Given the description of an element on the screen output the (x, y) to click on. 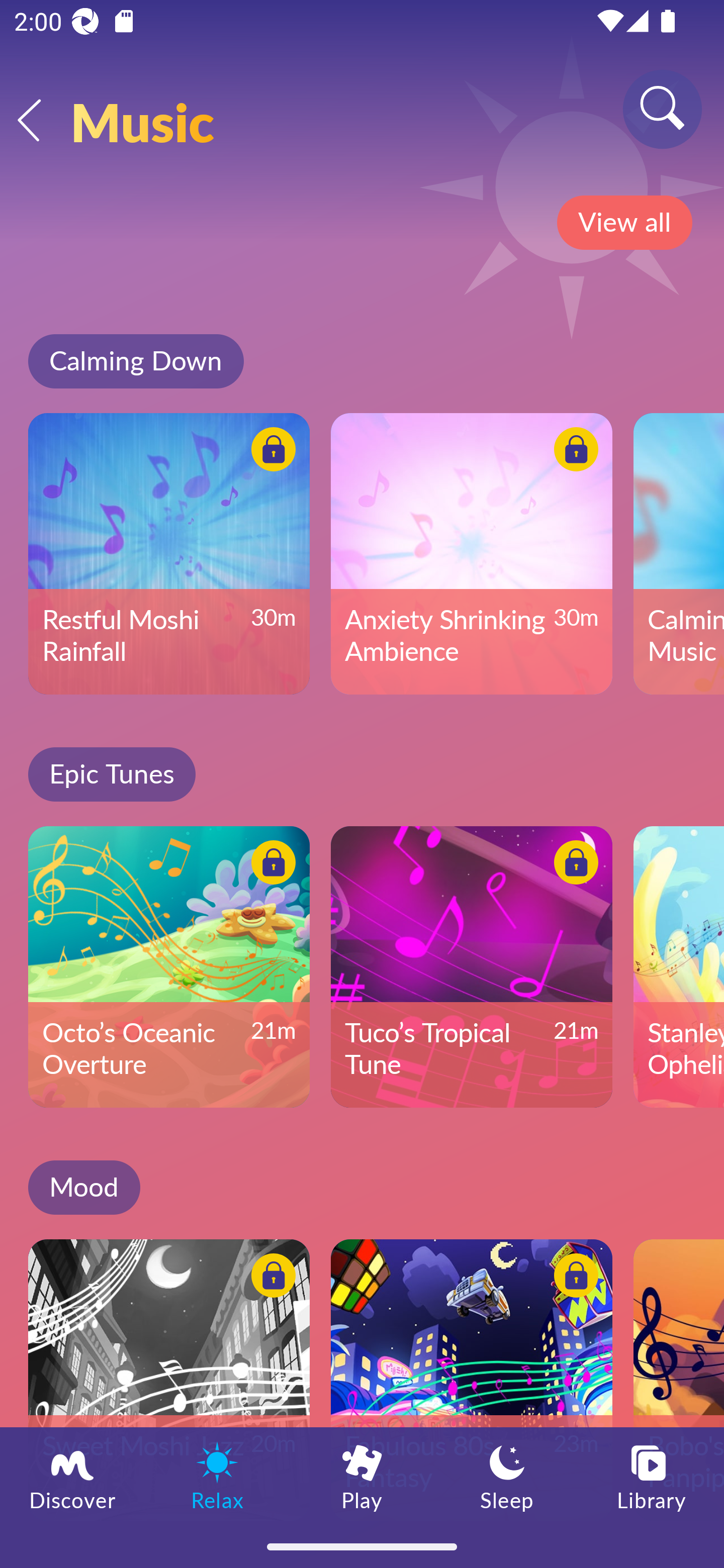
View all (624, 222)
Featured Content Button Restful Moshi Rainfall 30m (168, 553)
Button (269, 451)
Button (573, 451)
Button (269, 865)
Featured Content Button Tuco’s Tropical Tune 21m (471, 966)
Button (573, 865)
Featured Content Button Sweet Moshi Jazz 20m (168, 1379)
Button (269, 1277)
Featured Content Button Fabulous 80s Fantasy 23m (471, 1379)
Button (573, 1277)
Discover (72, 1475)
Play (361, 1475)
Sleep (506, 1475)
Library (651, 1475)
